Given the description of an element on the screen output the (x, y) to click on. 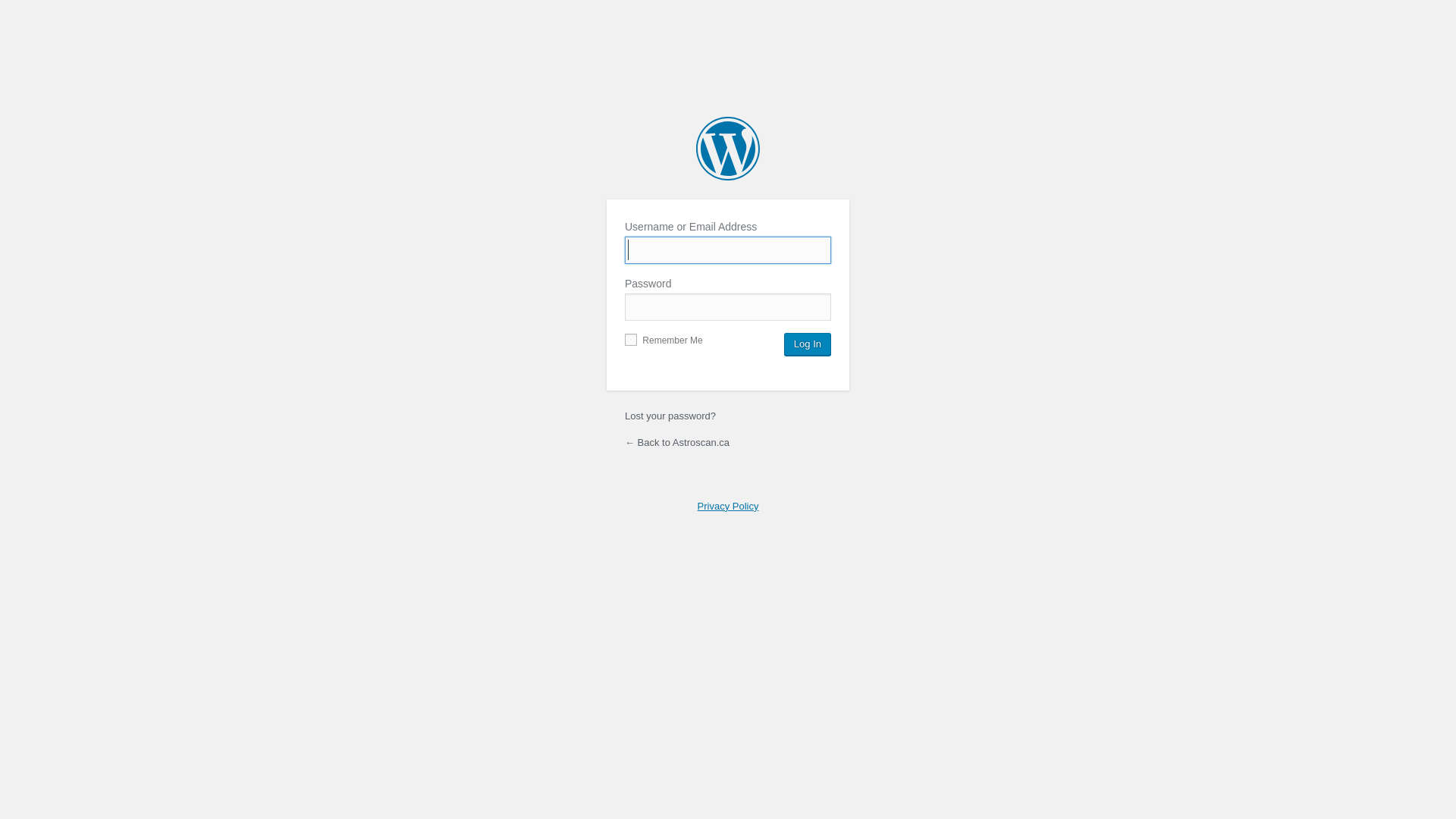
Lost your password? Element type: text (669, 415)
Log In Element type: text (807, 343)
Privacy Policy Element type: text (728, 505)
Powered by WordPress Element type: text (727, 148)
